Given the description of an element on the screen output the (x, y) to click on. 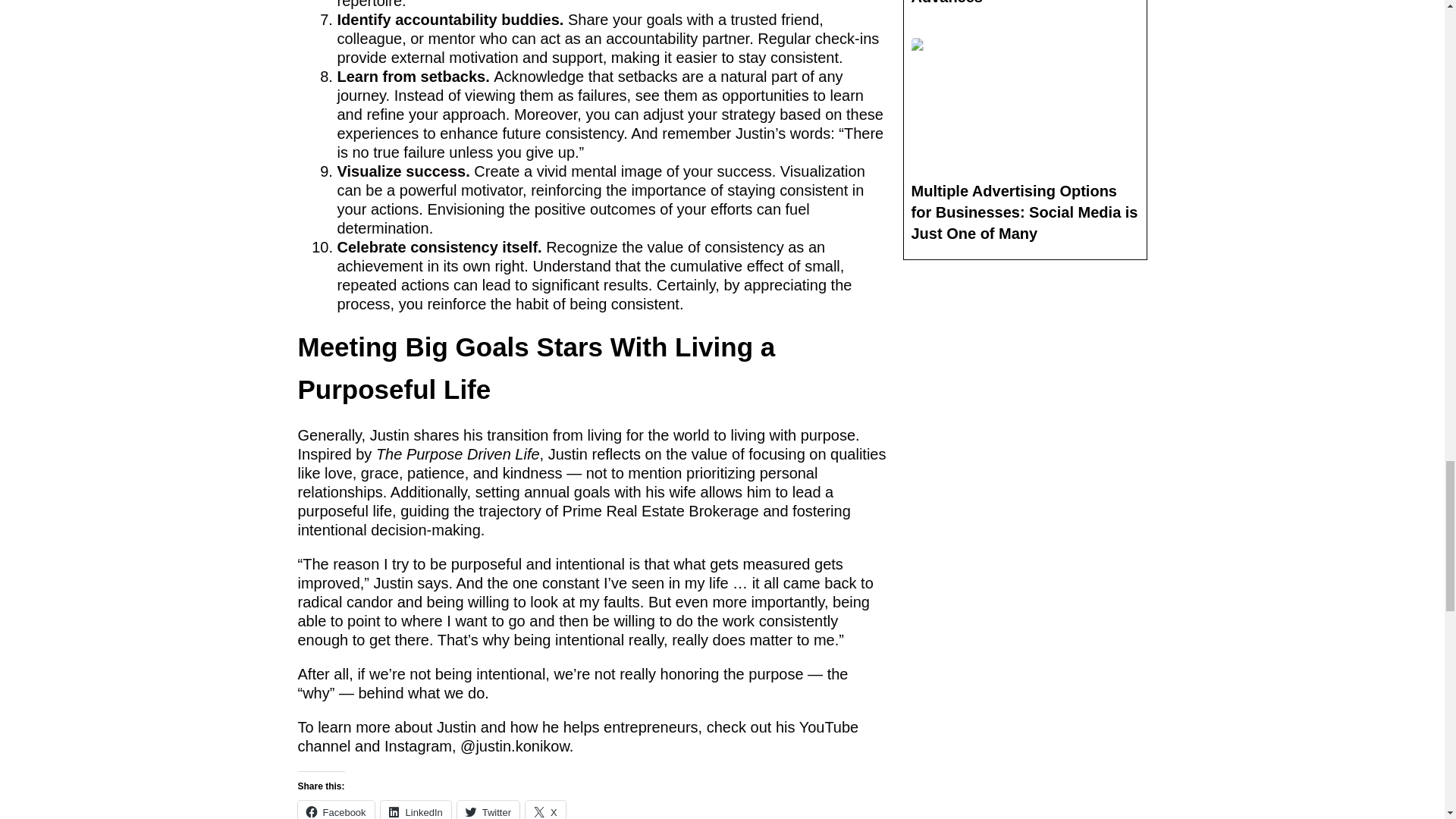
Click to share on Twitter (488, 809)
Click to share on LinkedIn (415, 809)
Click to share on X (545, 809)
Twitter (488, 809)
Facebook (335, 809)
LinkedIn (415, 809)
X (545, 809)
Click to share on Facebook (335, 809)
